Given the description of an element on the screen output the (x, y) to click on. 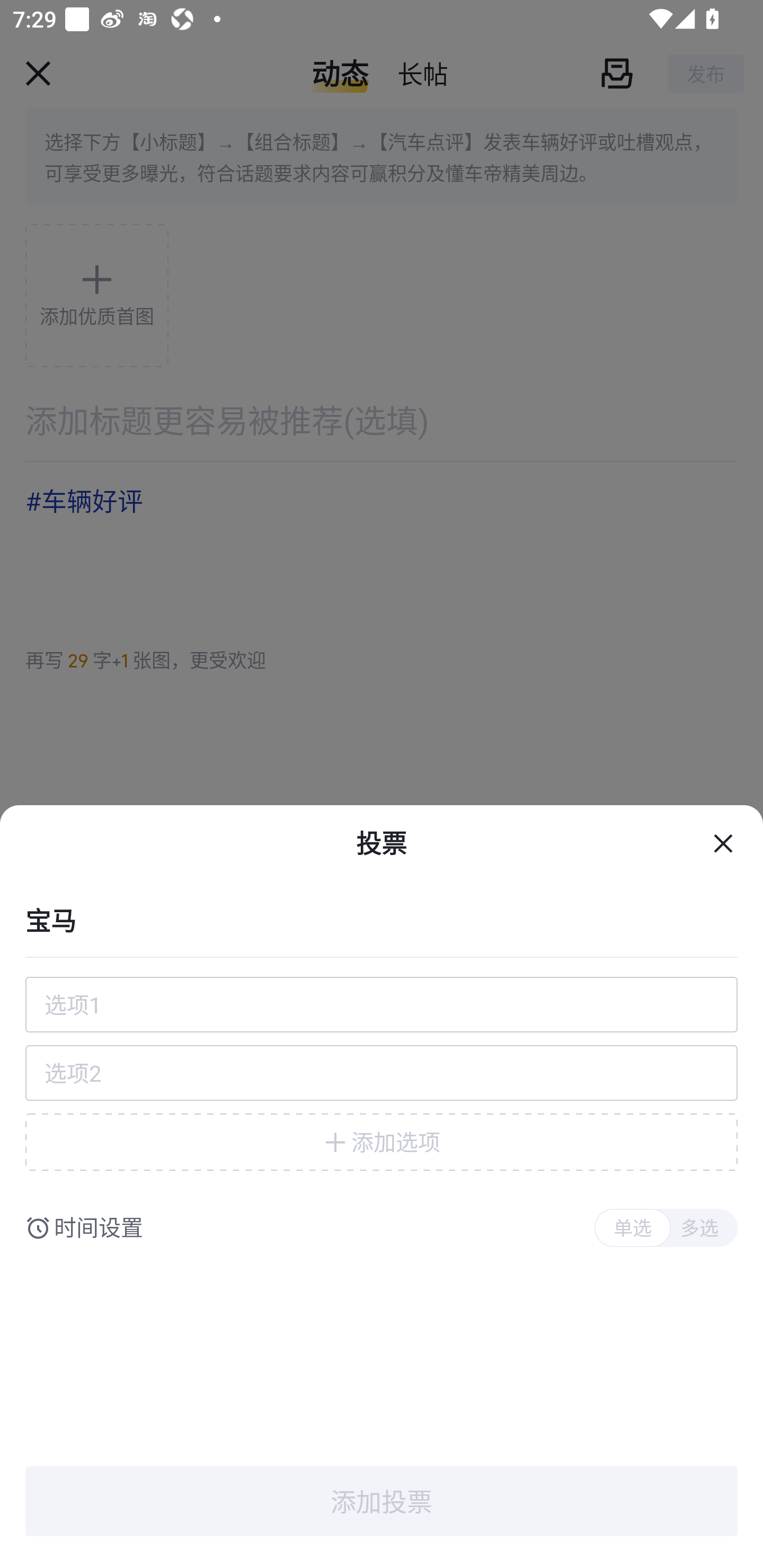
宝马 (381, 918)
选项1 (381, 1003)
选项2 (381, 1072)
添加选项 (381, 1142)
单选 (632, 1227)
多选 (699, 1227)
时间设置 (98, 1227)
添加投票 (381, 1501)
